Given the description of an element on the screen output the (x, y) to click on. 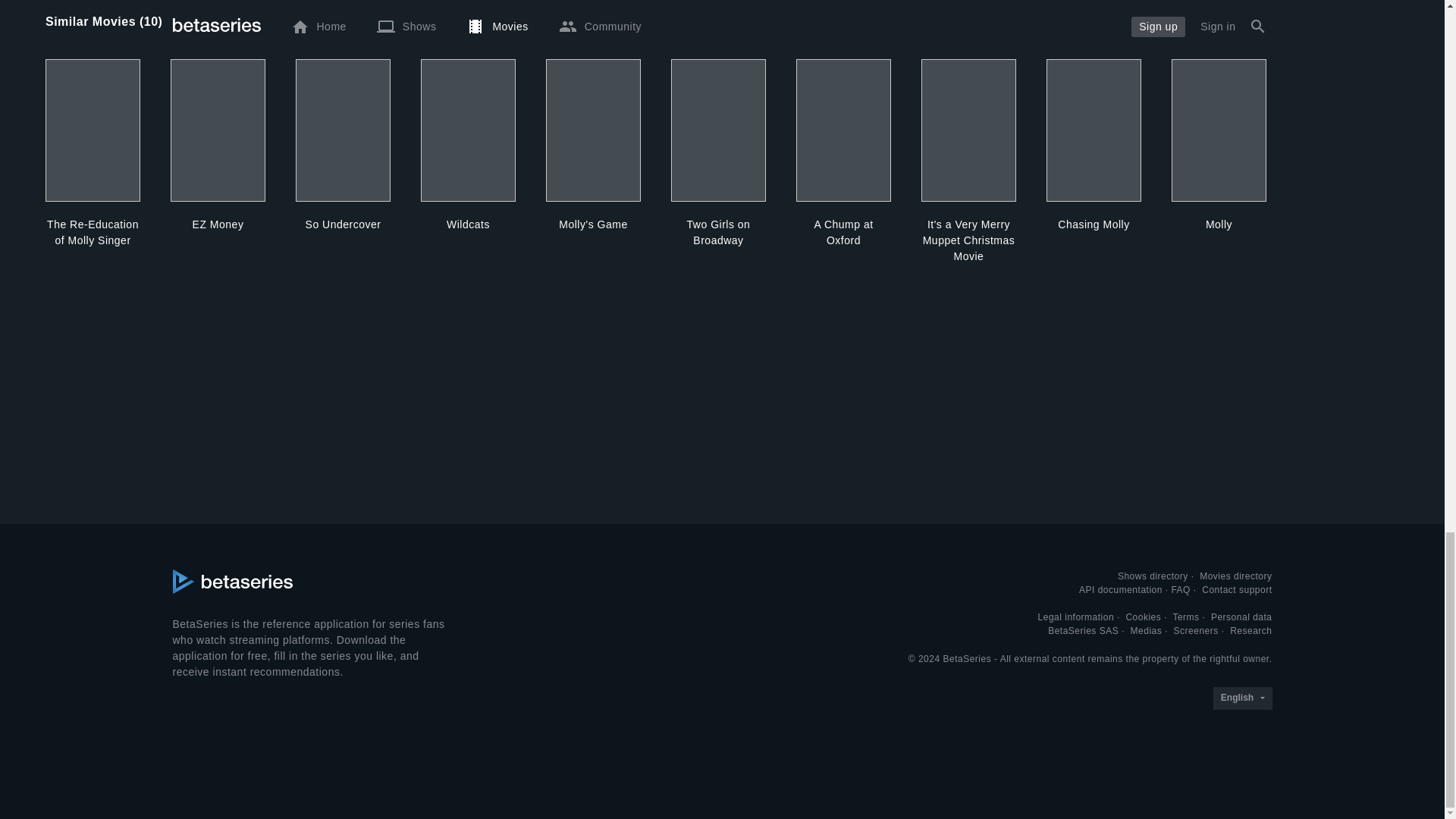
The Re-Education of Molly Singer (92, 232)
Molly (1219, 224)
So Undercover (342, 224)
Molly's Game (593, 224)
Two Girls on Broadway (718, 232)
Wildcats (467, 224)
Chasing Molly (1093, 224)
A Chump at Oxford (843, 232)
It's a Very Merry Muppet Christmas Movie (968, 240)
EZ Money (217, 224)
